Given the description of an element on the screen output the (x, y) to click on. 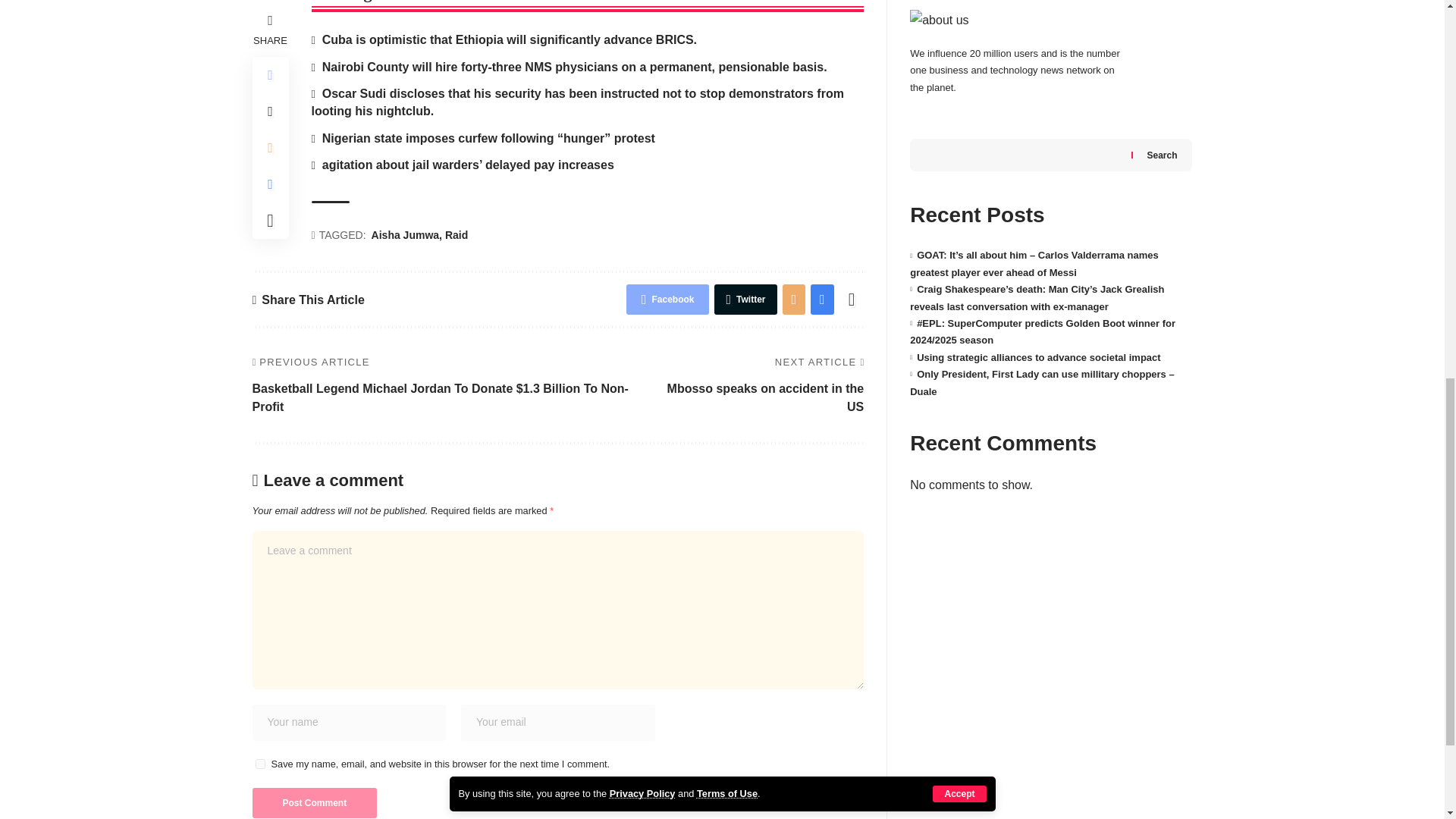
yes (259, 764)
Post Comment (314, 802)
